Given the description of an element on the screen output the (x, y) to click on. 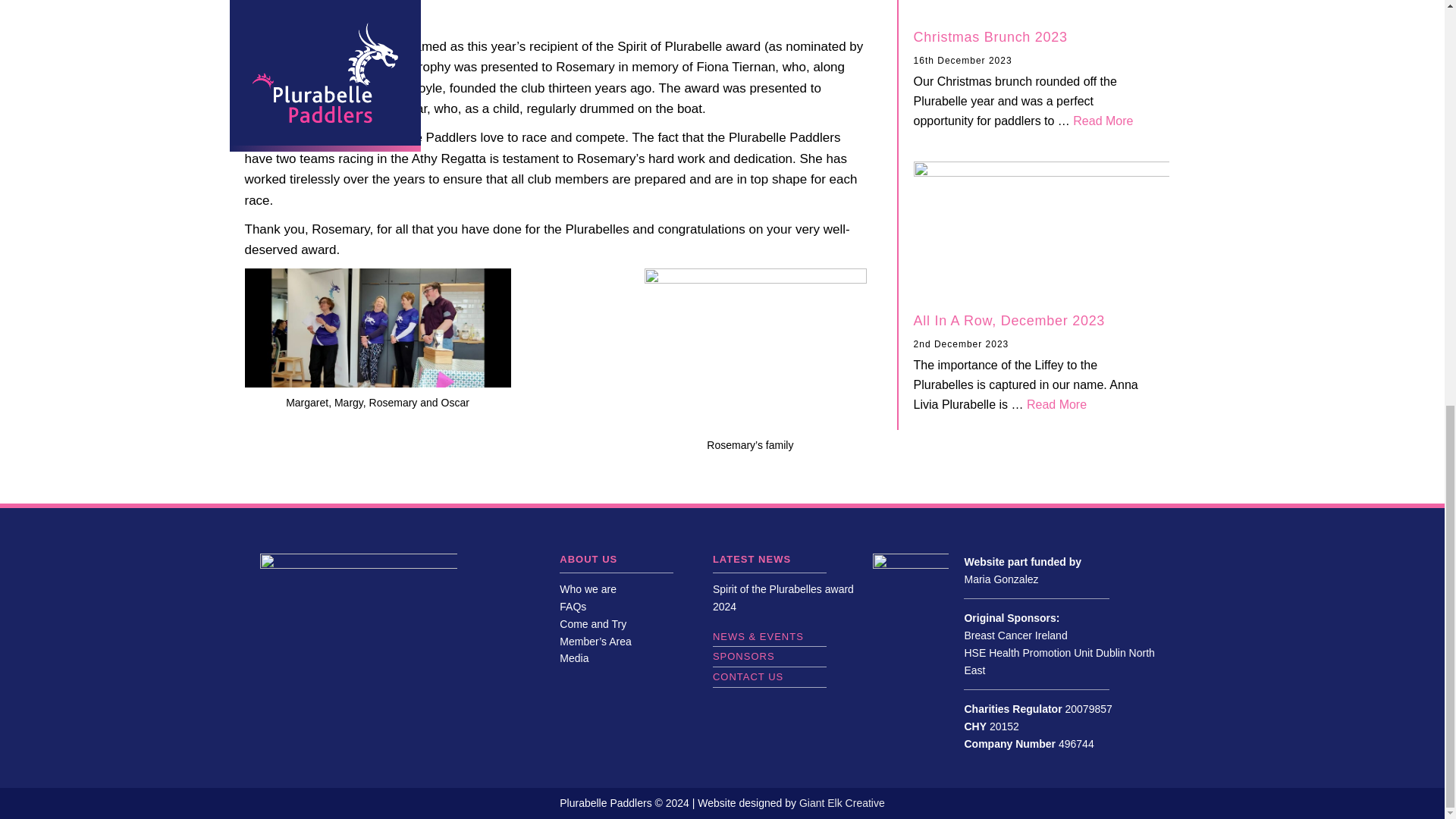
Christmas Brunch 2023 (990, 37)
FAQs (1102, 120)
Who we are (1056, 404)
All In A Row, December 2023 (572, 606)
